Given the description of an element on the screen output the (x, y) to click on. 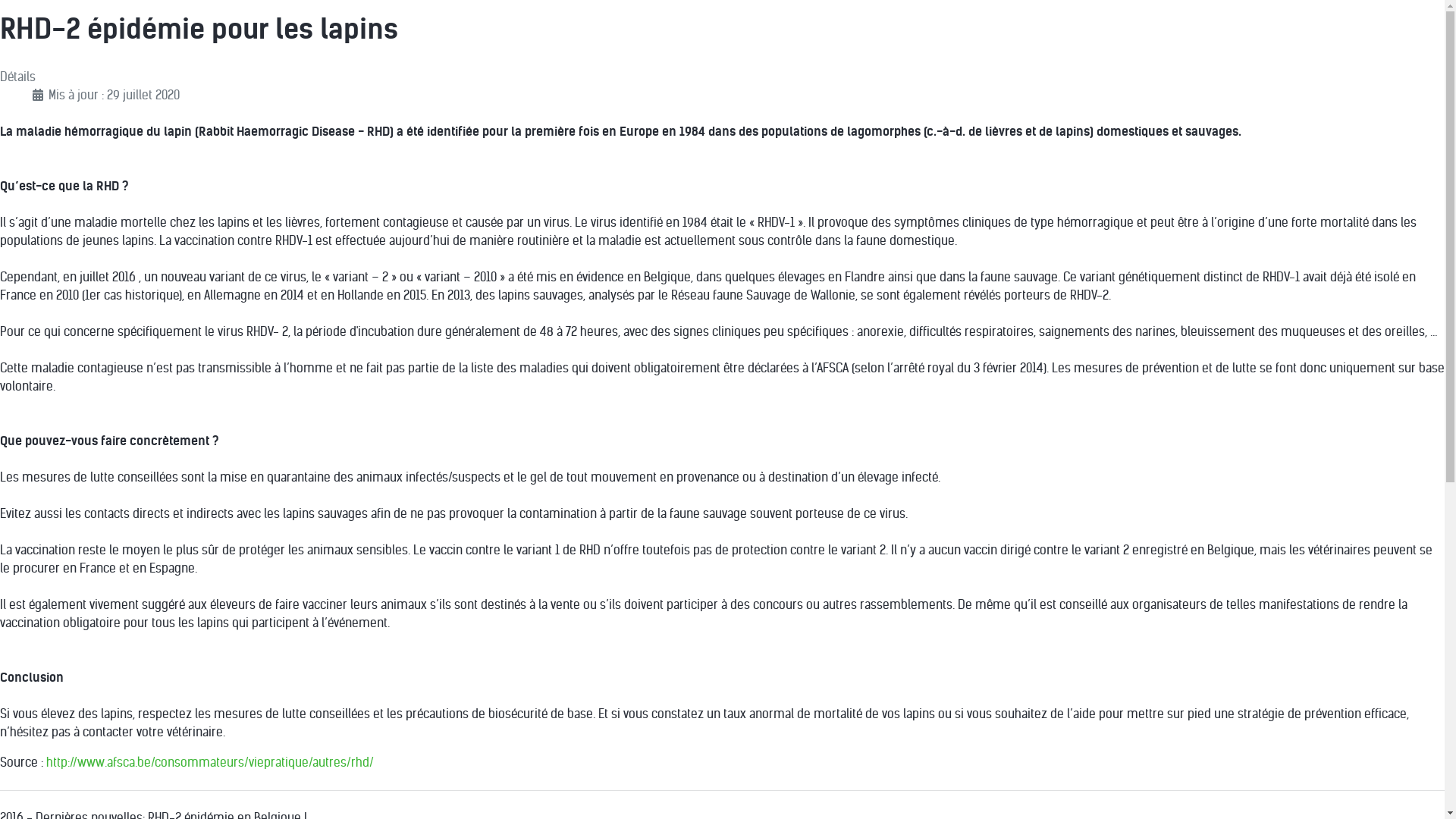
http://www.afsca.be/consommateurs/viepratique/autres/rhd/ Element type: text (209, 762)
